Given the description of an element on the screen output the (x, y) to click on. 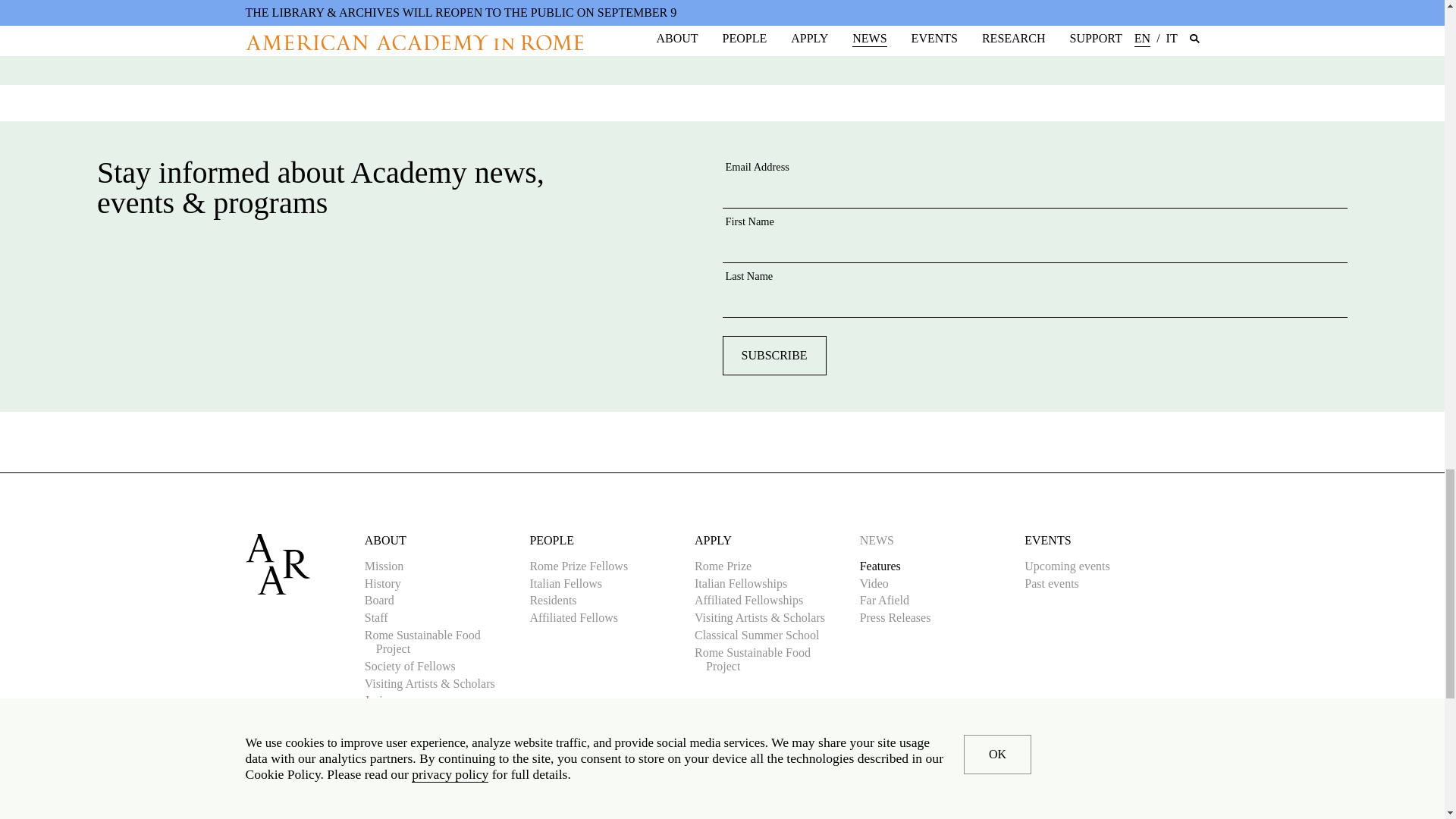
Subscribe (773, 355)
Board (384, 600)
American Academy in Rome (305, 563)
History (388, 583)
Society of Fellows (415, 666)
Open Positions (406, 753)
Tours (383, 735)
Classical Summer School (762, 635)
Juries (384, 700)
Advisors (392, 717)
